Given the description of an element on the screen output the (x, y) to click on. 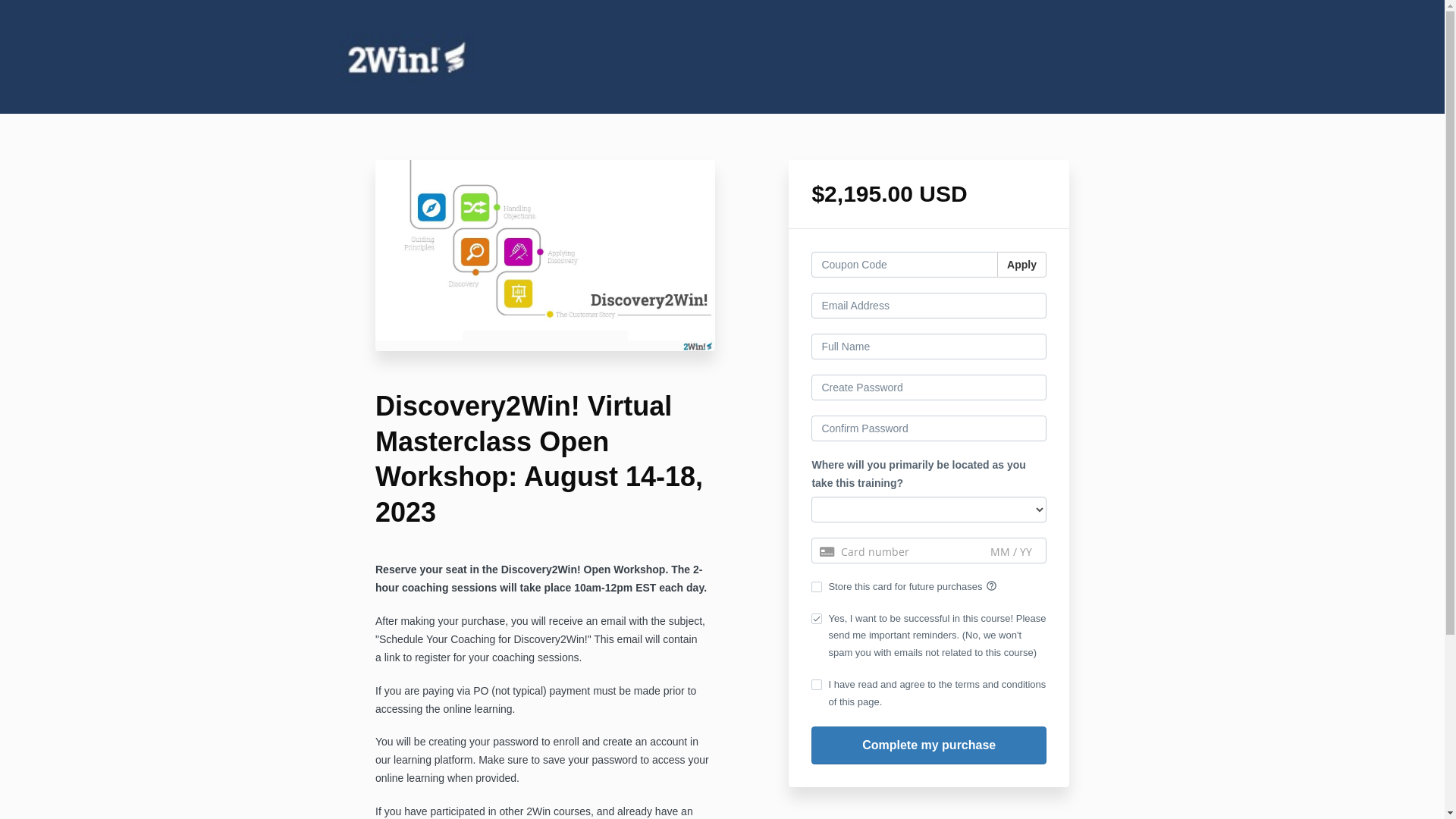
Secure card payment input frame Element type: hover (928, 551)
Apply Element type: text (1021, 264)
Complete my purchase Element type: text (928, 745)
